Given the description of an element on the screen output the (x, y) to click on. 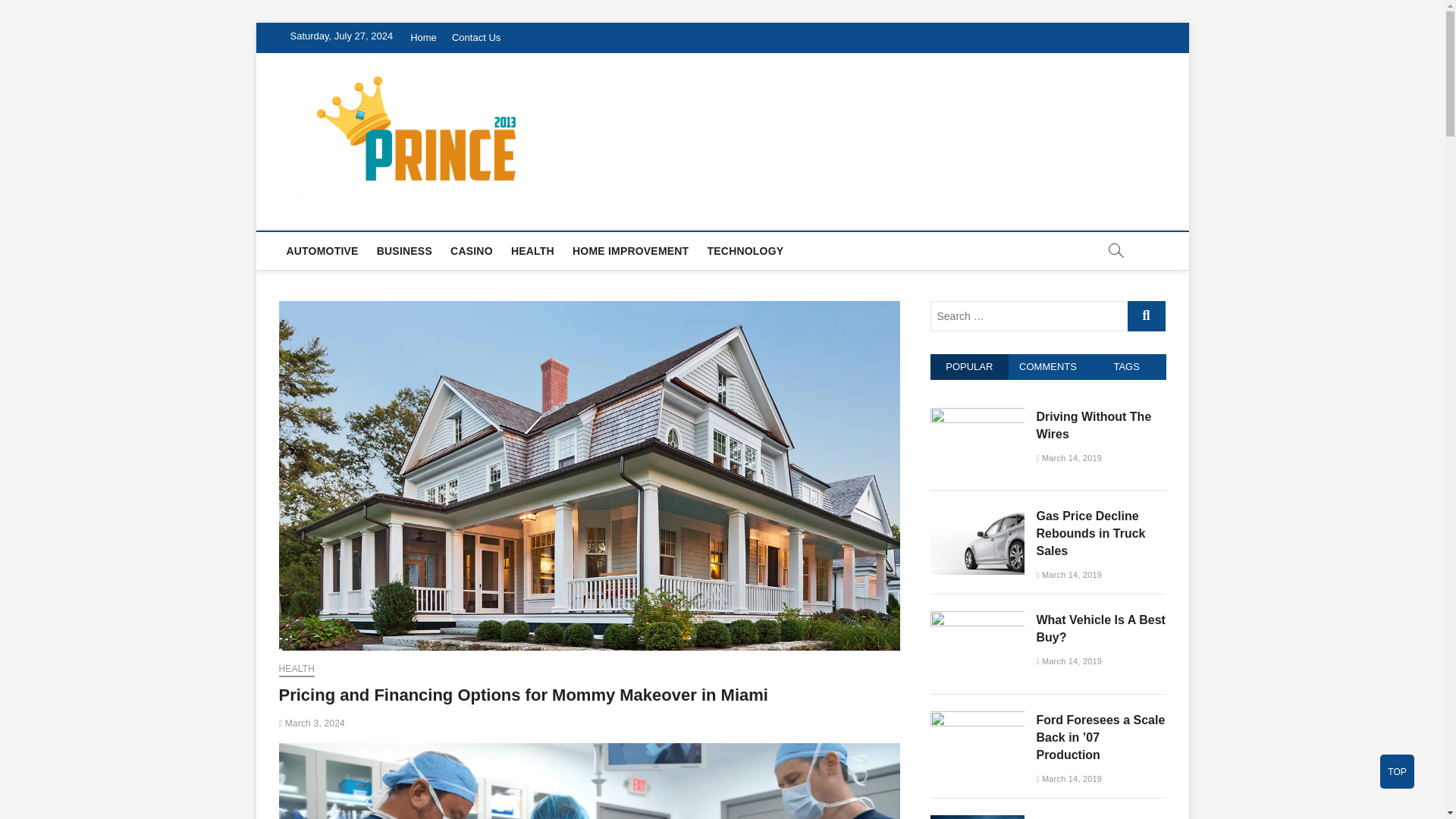
Home (423, 37)
What Vehicle Is A Best Buy? (1099, 628)
What Vehicle Is A Best Buy? (977, 618)
March 14, 2019 (1068, 457)
Prince 2013 (655, 103)
Gas Price Decline Rebounds in Truck Sales (977, 514)
March 14, 2019 (1068, 777)
Driving Without The Wires (1093, 425)
COMMENTS (1048, 366)
Gas Price Decline Rebounds in Truck Sales (1089, 533)
CASINO (471, 250)
March 3, 2024 (312, 723)
March 14, 2019 (1068, 660)
